Given the description of an element on the screen output the (x, y) to click on. 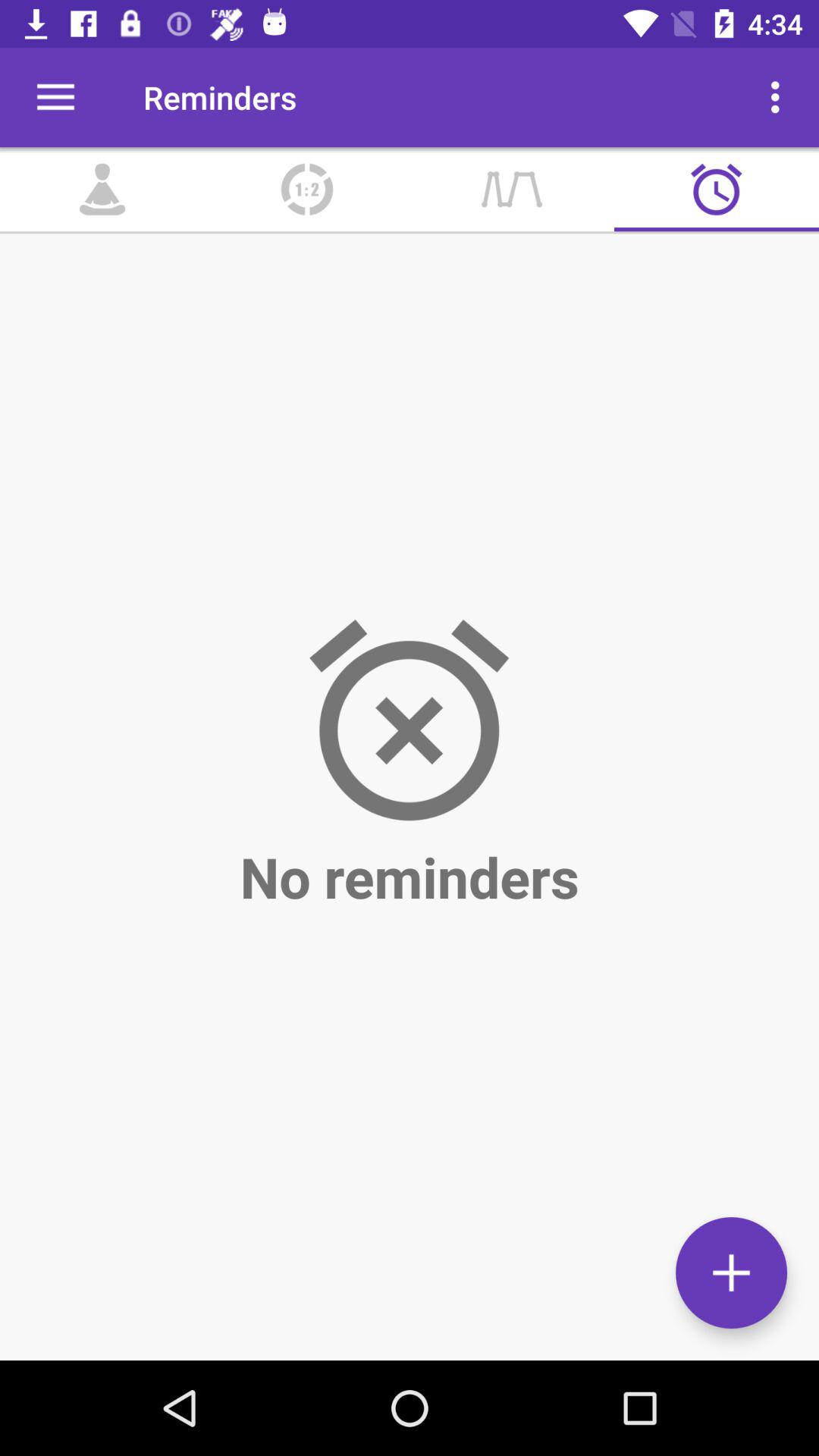
turn on icon next to the reminders (55, 97)
